Given the description of an element on the screen output the (x, y) to click on. 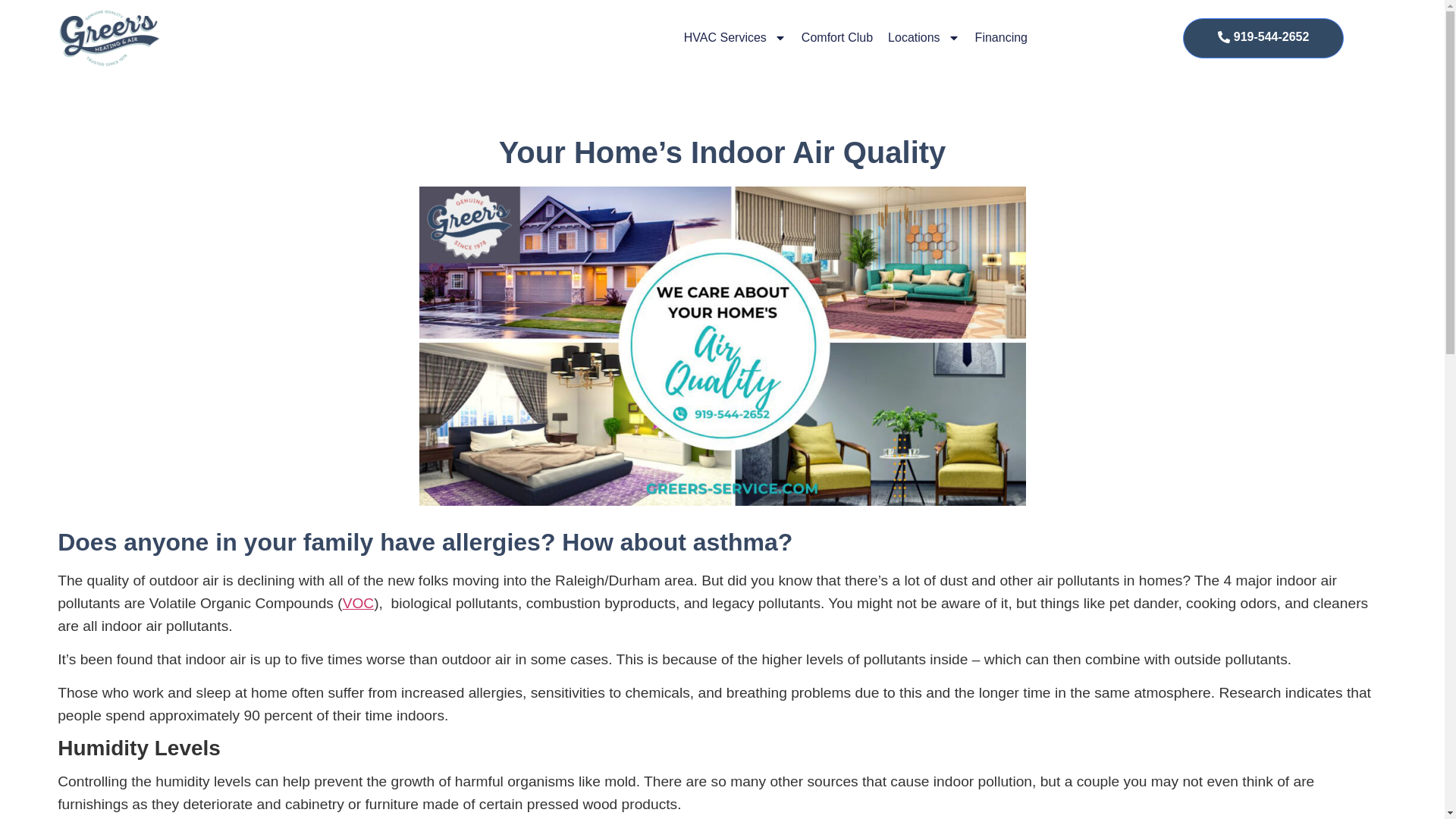
Locations (923, 37)
Comfort Club (837, 37)
HVAC Services (735, 37)
Financing (1001, 37)
